Given the description of an element on the screen output the (x, y) to click on. 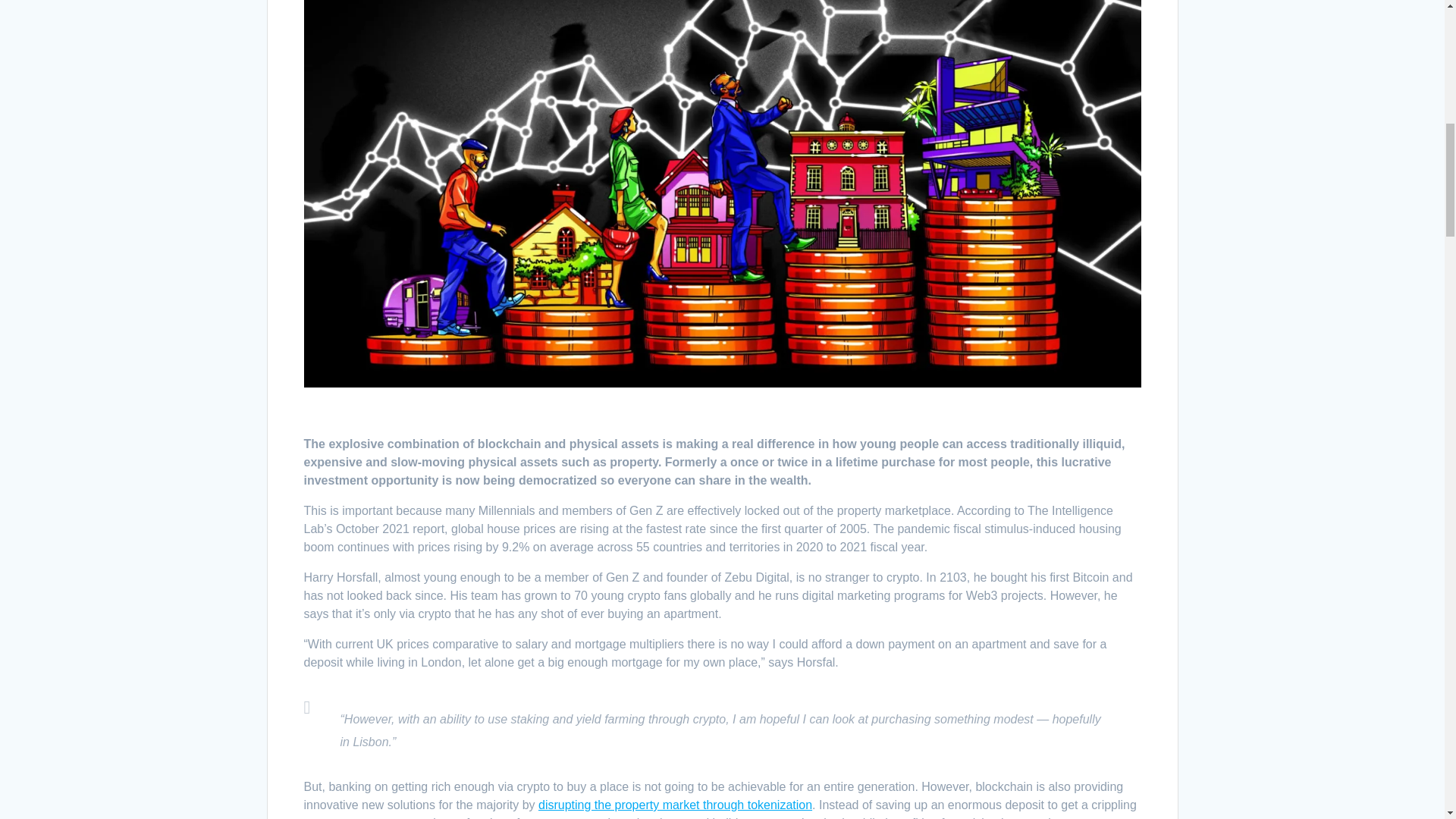
disrupting the property market through tokenization (675, 804)
